Given the description of an element on the screen output the (x, y) to click on. 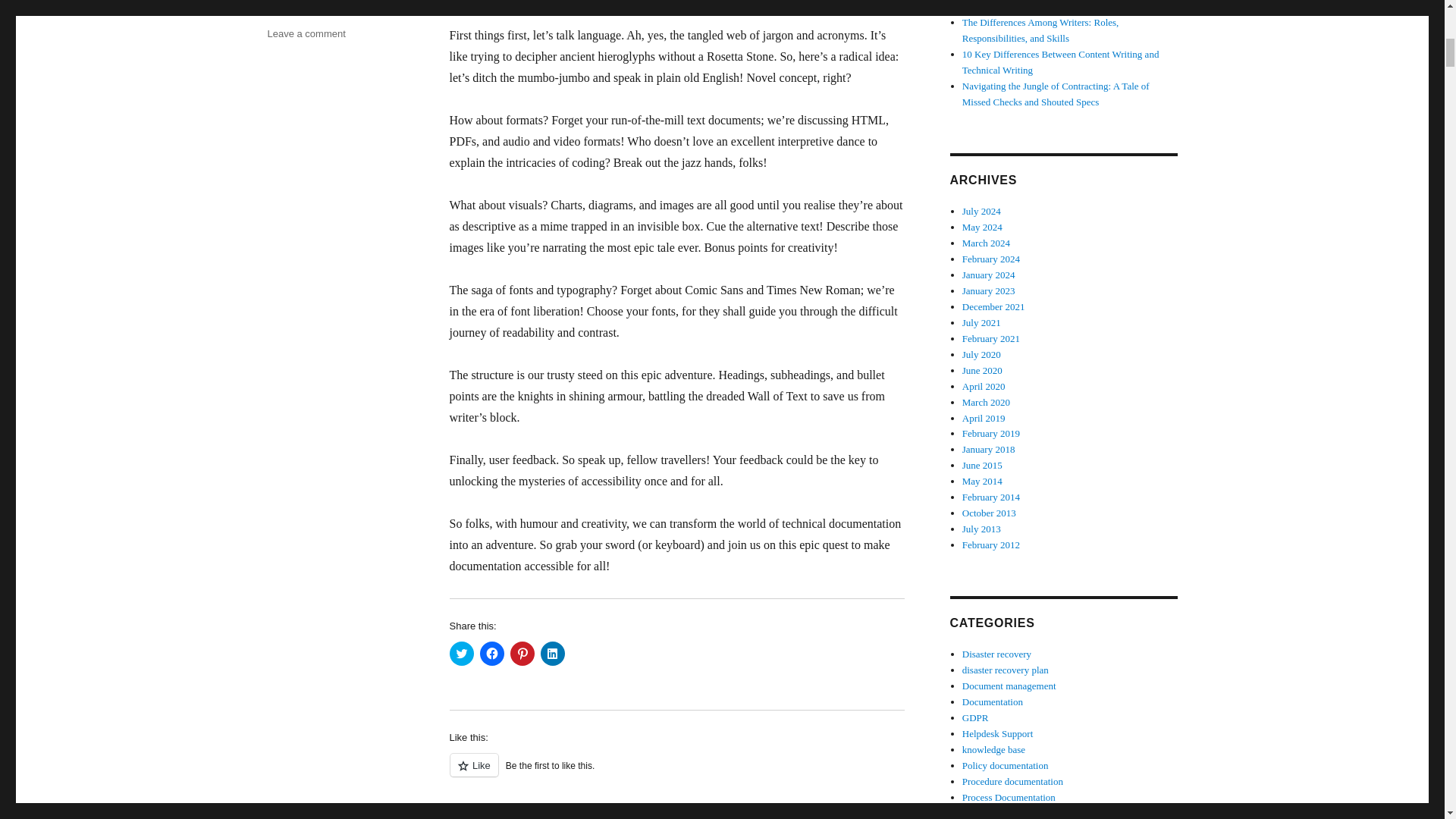
Like or Reblog (676, 773)
Click to share on Pinterest (521, 653)
Click to share on Facebook (491, 653)
Click to share on Twitter (460, 653)
Click to share on LinkedIn (552, 653)
